Given the description of an element on the screen output the (x, y) to click on. 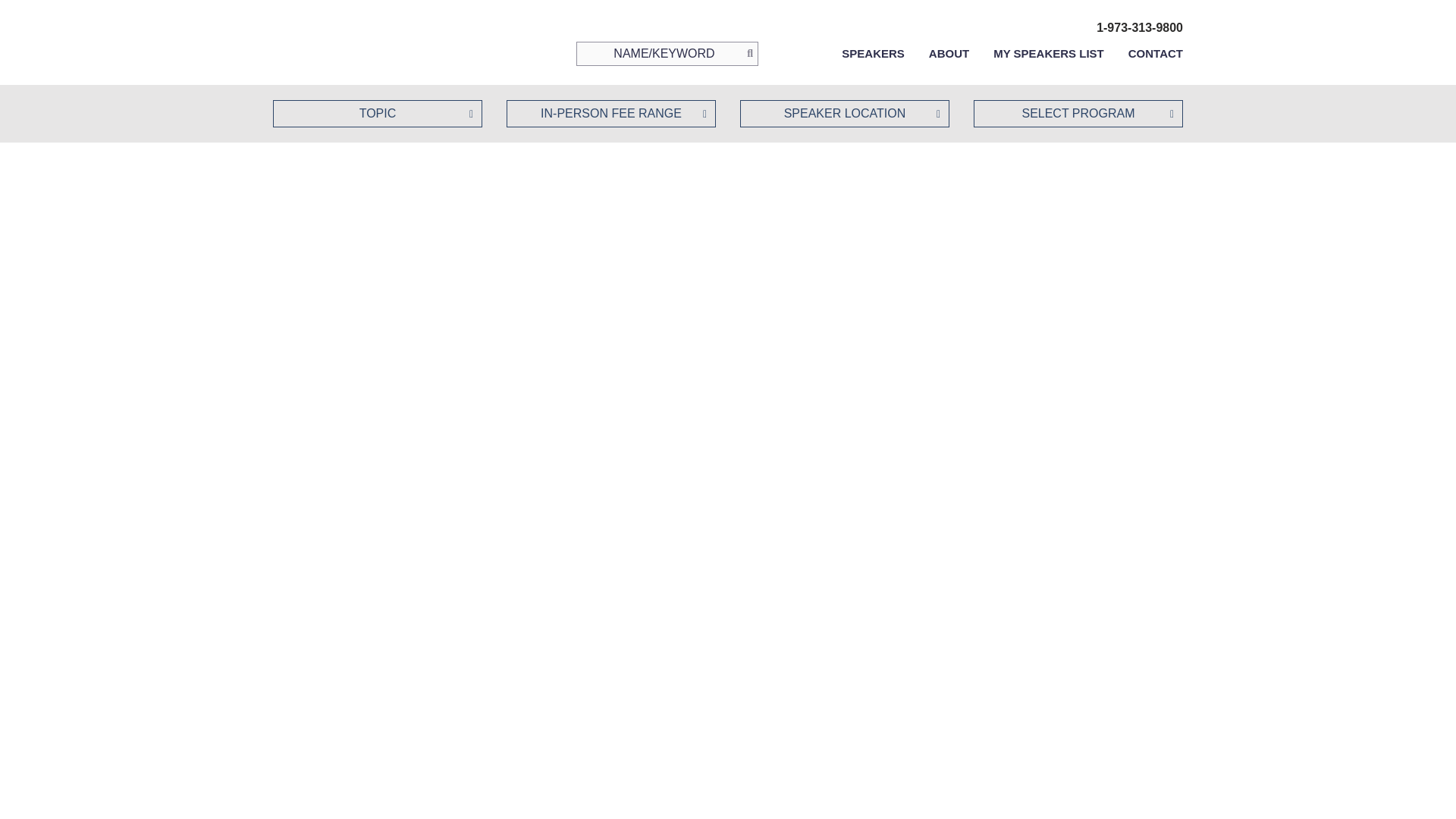
CONTACT (1155, 53)
MY SPEAKERS LIST (1047, 53)
1-973-313-9800 (1139, 27)
SPEAKERS (872, 53)
ABOUT (948, 53)
Contact Us by Phone 1-973-313-9800 (1139, 27)
